Given the description of an element on the screen output the (x, y) to click on. 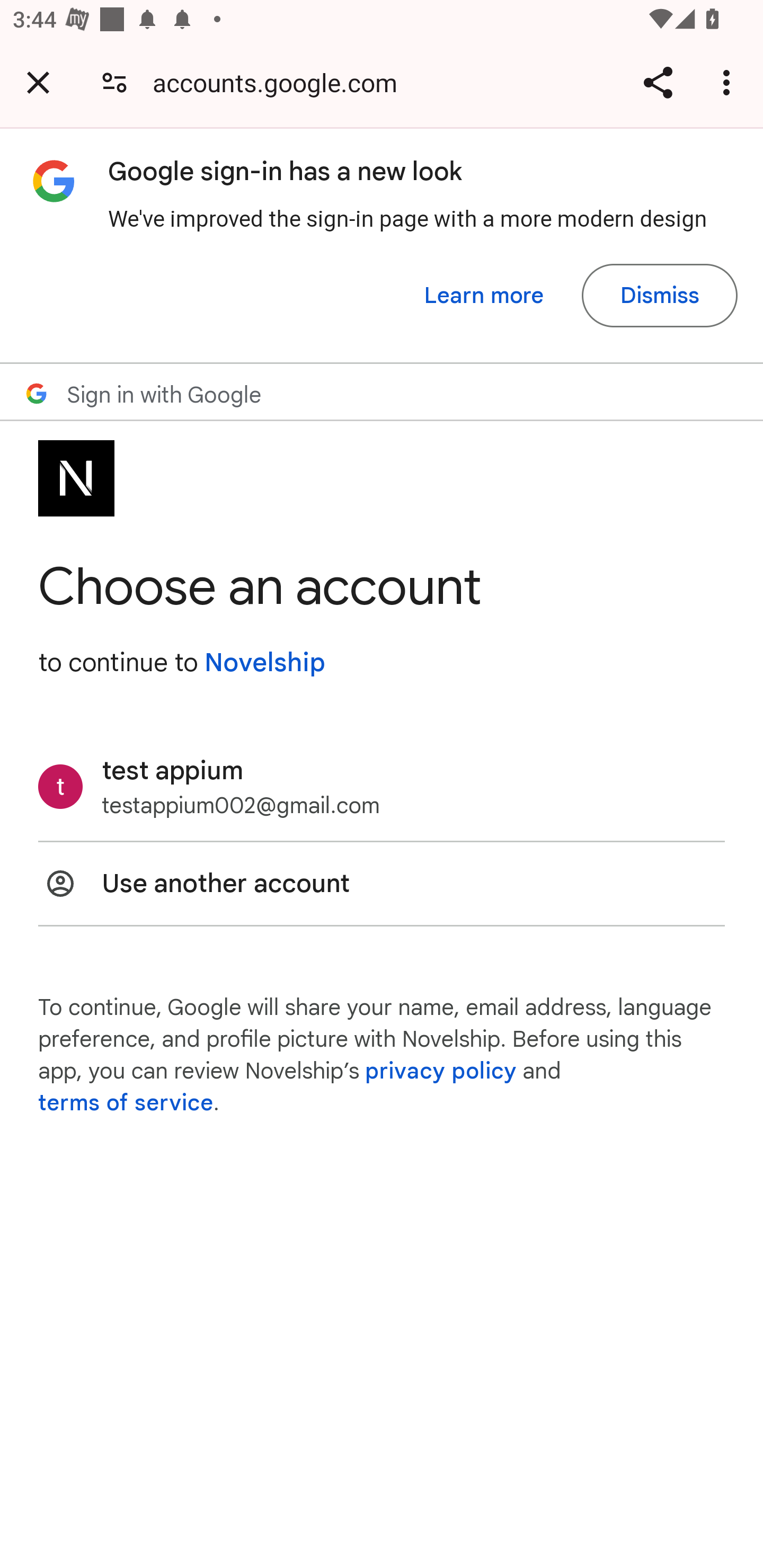
Close tab (38, 82)
Share (657, 82)
Customize and control Google Chrome (729, 82)
Connection is secure (114, 81)
accounts.google.com (281, 81)
Learn more (483, 295)
Dismiss (659, 295)
Novelship (264, 662)
Use another account (381, 883)
privacy policy (440, 1070)
terms of service (126, 1102)
